Given the description of an element on the screen output the (x, y) to click on. 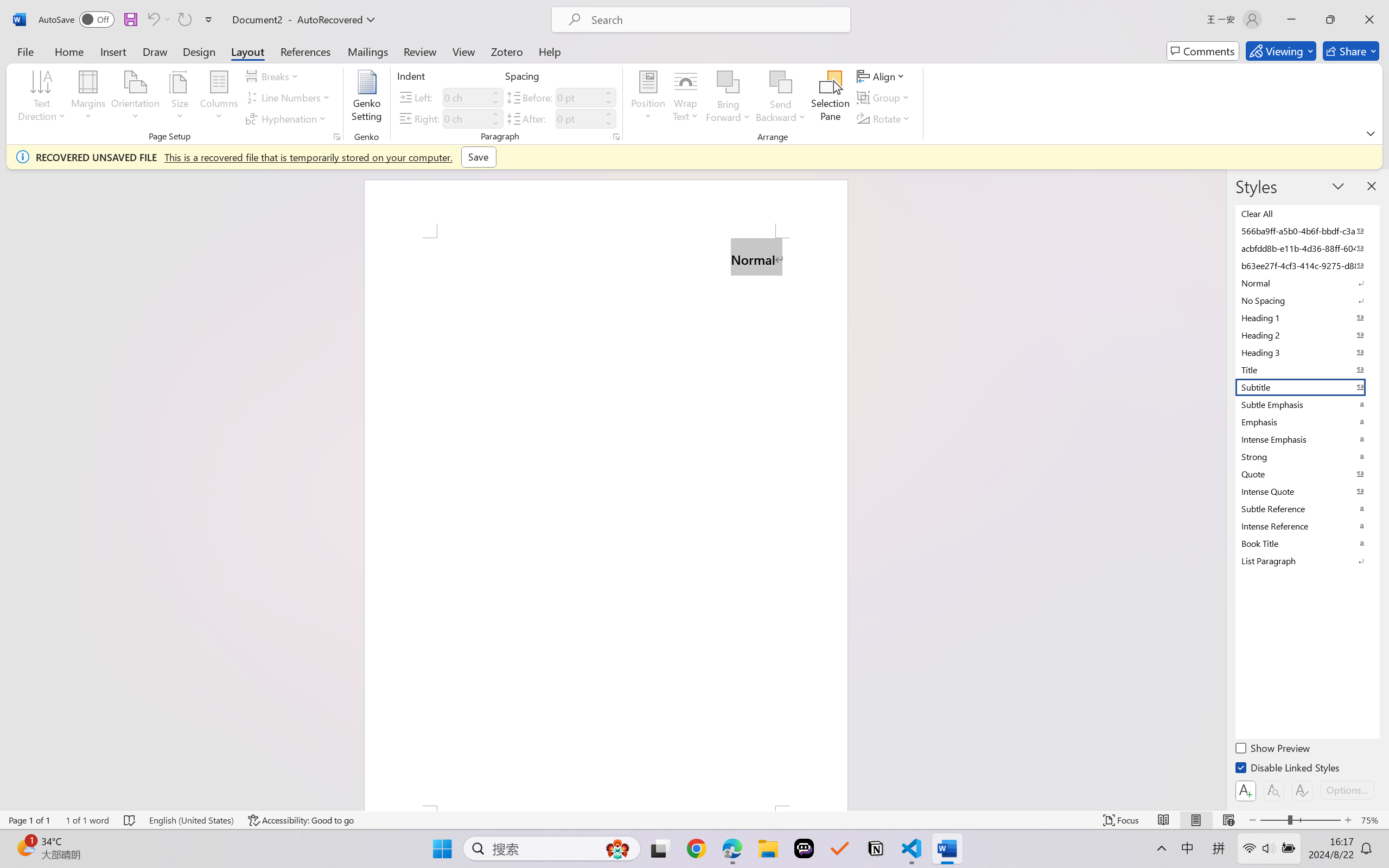
Spacing After (578, 118)
Disable Linked Styles (1287, 769)
Hyphenation (287, 118)
Bring Forward (728, 81)
566ba9ff-a5b0-4b6f-bbdf-c3ab41993fc2 (1306, 230)
Spacing Before (578, 96)
Subtitle (1306, 386)
Intense Emphasis (1306, 438)
